Given the description of an element on the screen output the (x, y) to click on. 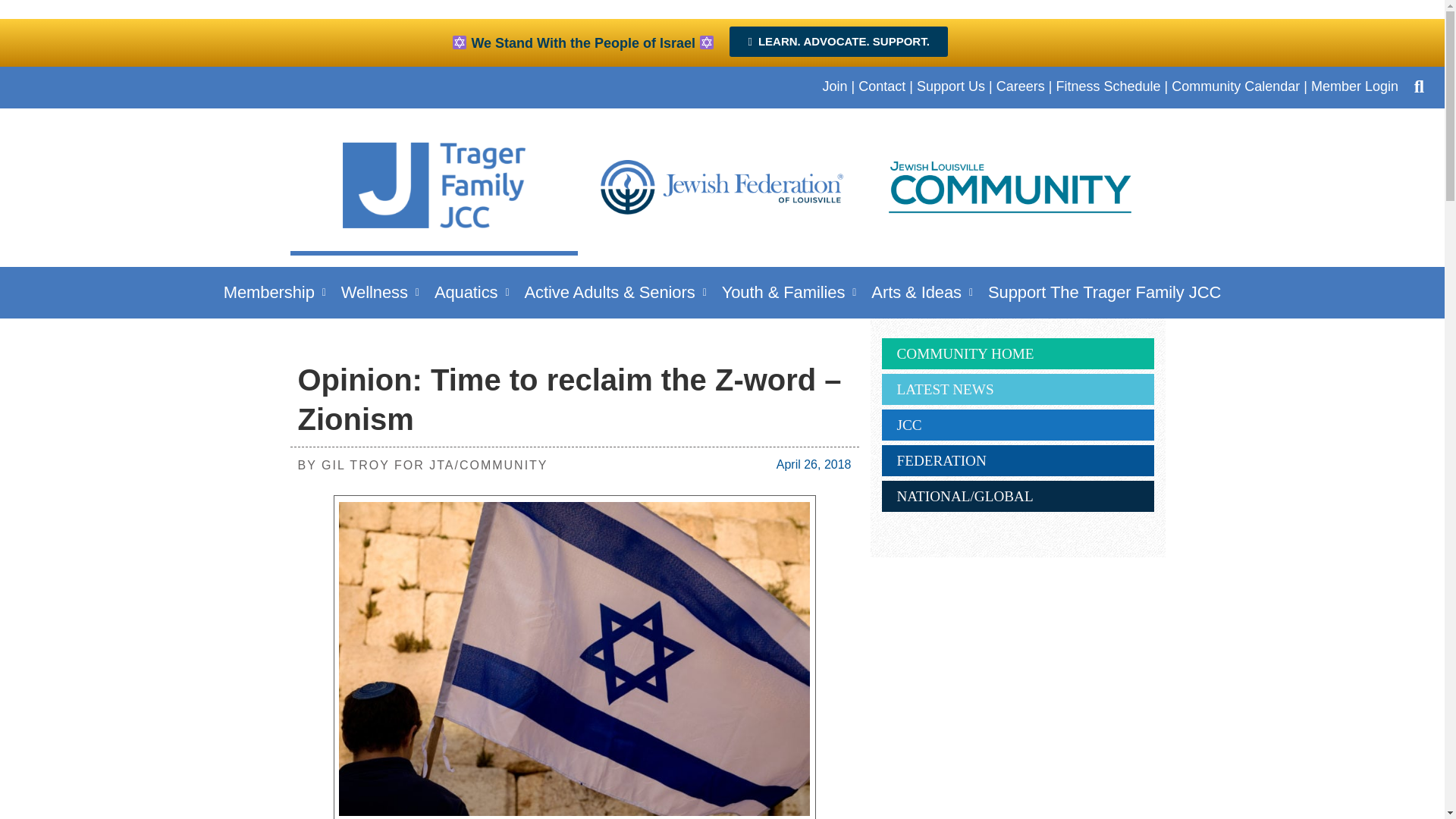
Member Login (1354, 86)
Fitness Schedule (1107, 86)
LEARN. ADVOCATE. SUPPORT. (838, 41)
Careers (1020, 86)
Join (834, 86)
Aquatics (471, 292)
Membership (274, 292)
Community Calendar (1236, 86)
Wellness (379, 292)
12:11 pm (813, 464)
Support Us (951, 86)
Contact (882, 86)
